Given the description of an element on the screen output the (x, y) to click on. 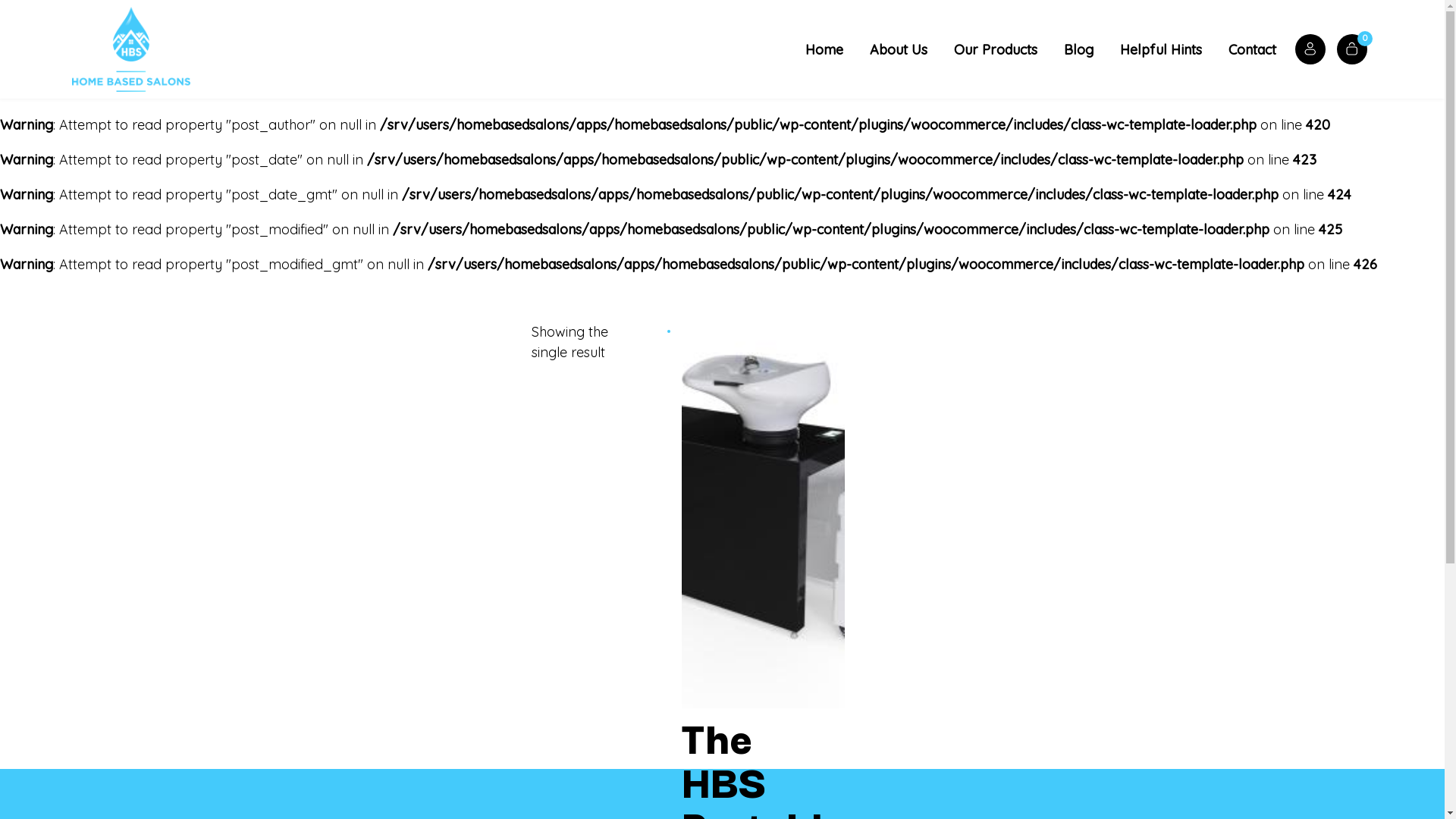
Helpful Hints Element type: text (1160, 49)
Our Products Element type: text (995, 49)
Contact Element type: text (1252, 49)
About Us Element type: text (898, 49)
Home Element type: text (824, 49)
0 Element type: text (1351, 49)
Blog Element type: text (1078, 49)
